Given the description of an element on the screen output the (x, y) to click on. 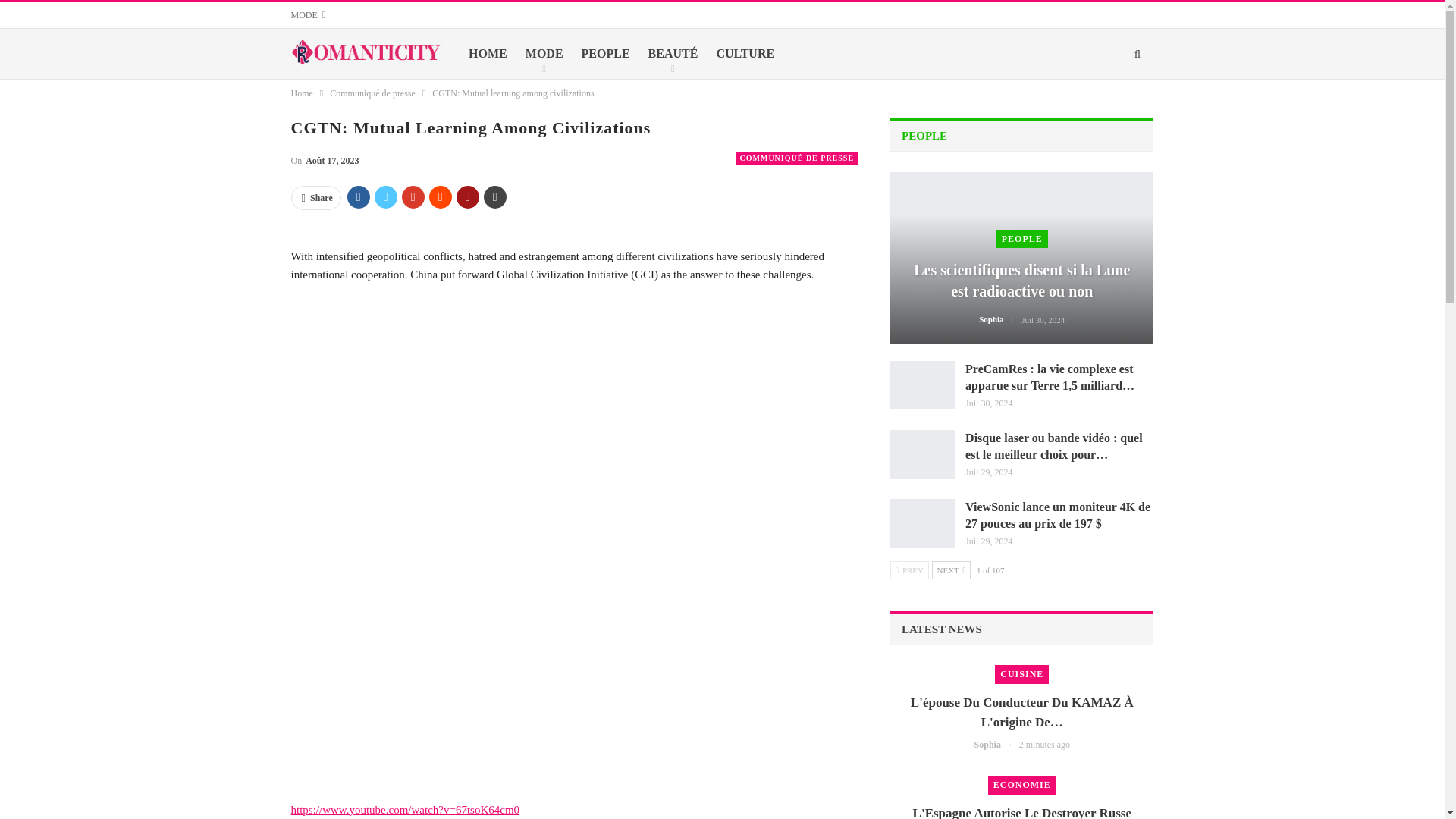
CULTURE (744, 53)
HOME (487, 53)
PEOPLE (605, 53)
MODE (544, 53)
MODE (308, 14)
